Given the description of an element on the screen output the (x, y) to click on. 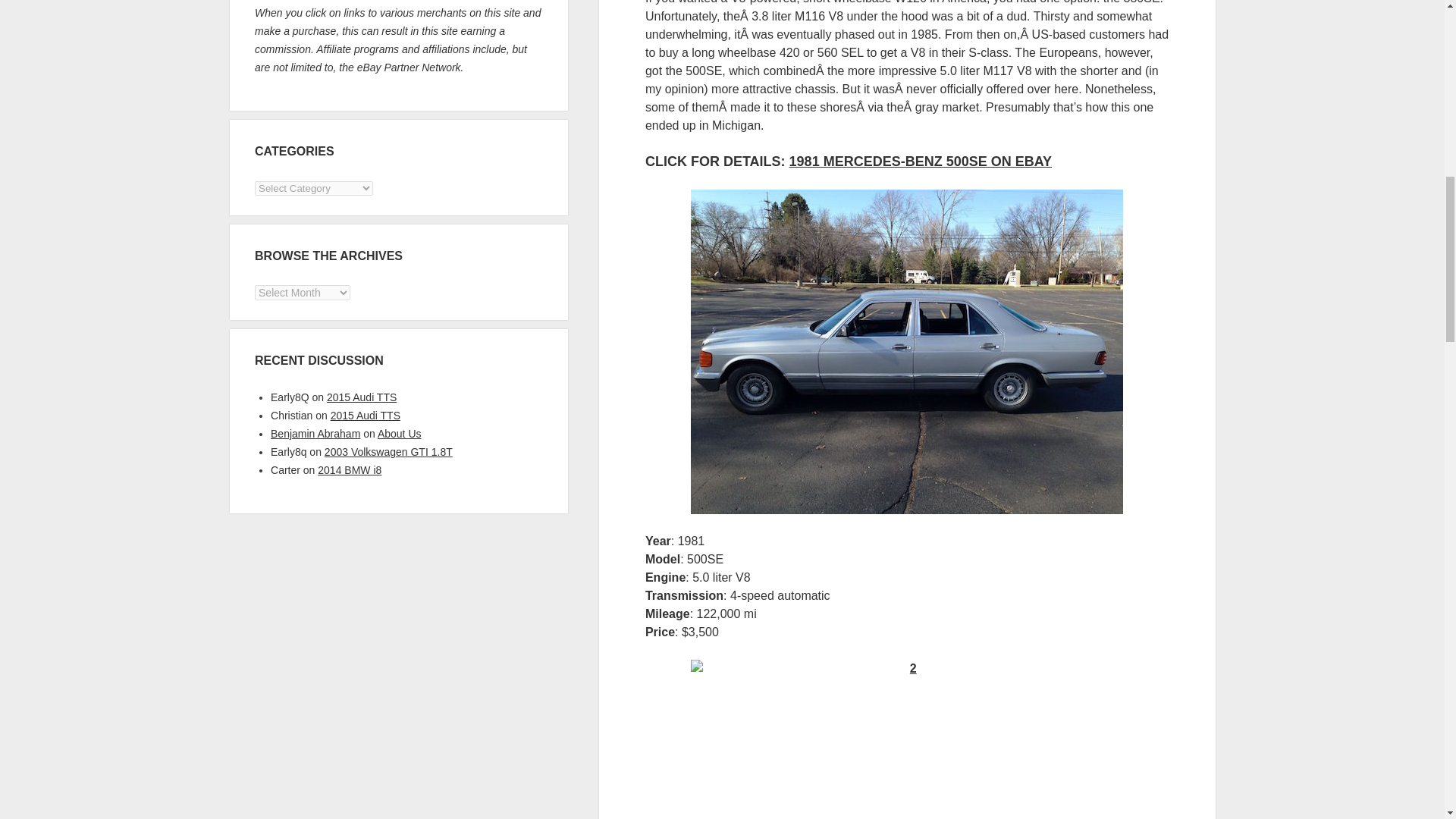
2015 Audi TTS (361, 397)
2014 BMW i8 (349, 469)
Benjamin Abraham (314, 433)
2003 Volkswagen GTI 1.8T (388, 451)
1981 MERCEDES-BENZ 500SE ON EBAY (920, 160)
2015 Audi TTS (365, 415)
About Us (399, 433)
